Given the description of an element on the screen output the (x, y) to click on. 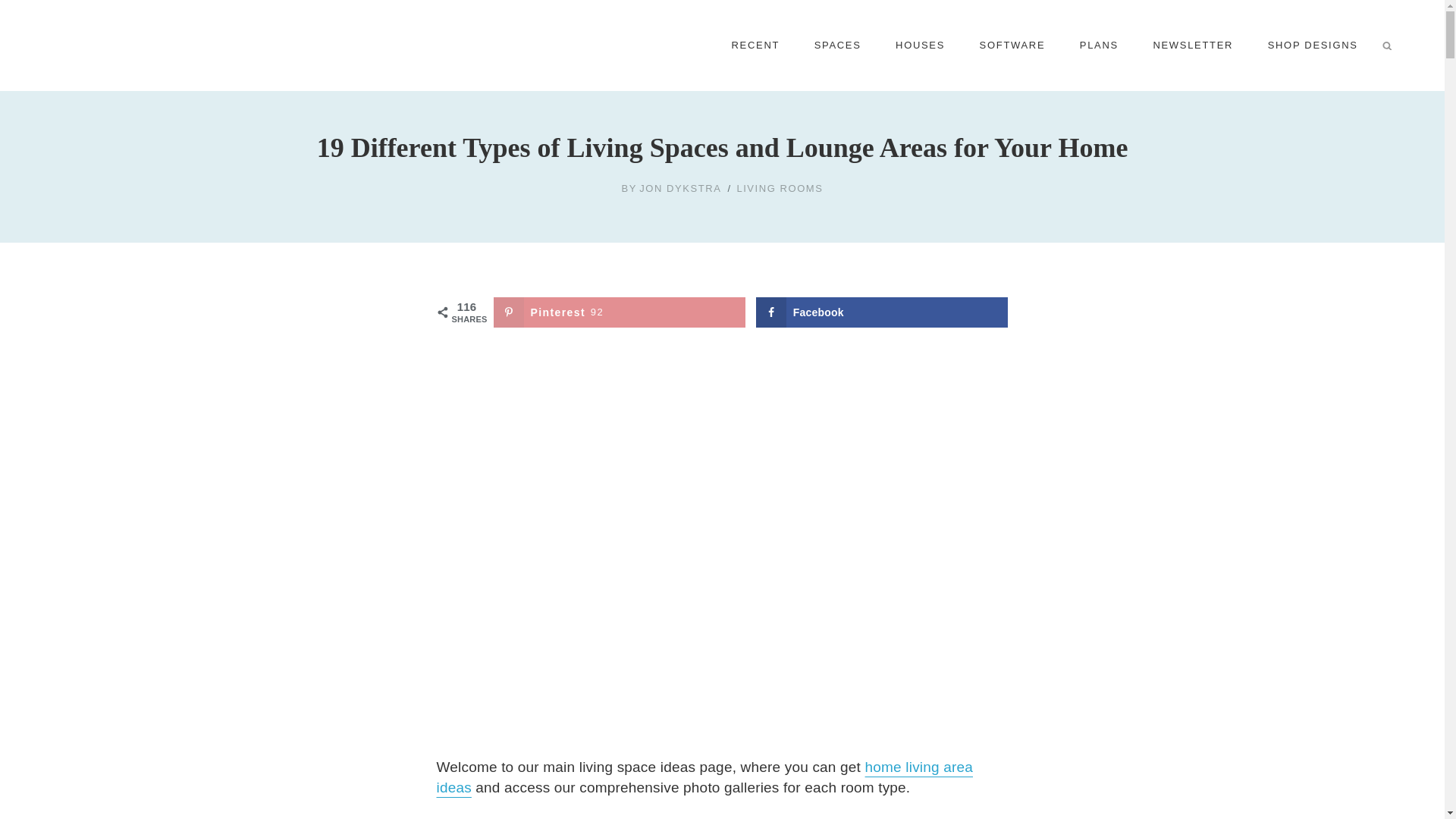
RECENT (755, 45)
Share on Facebook (882, 312)
Save to Pinterest (619, 312)
SPACES (836, 45)
